Given the description of an element on the screen output the (x, y) to click on. 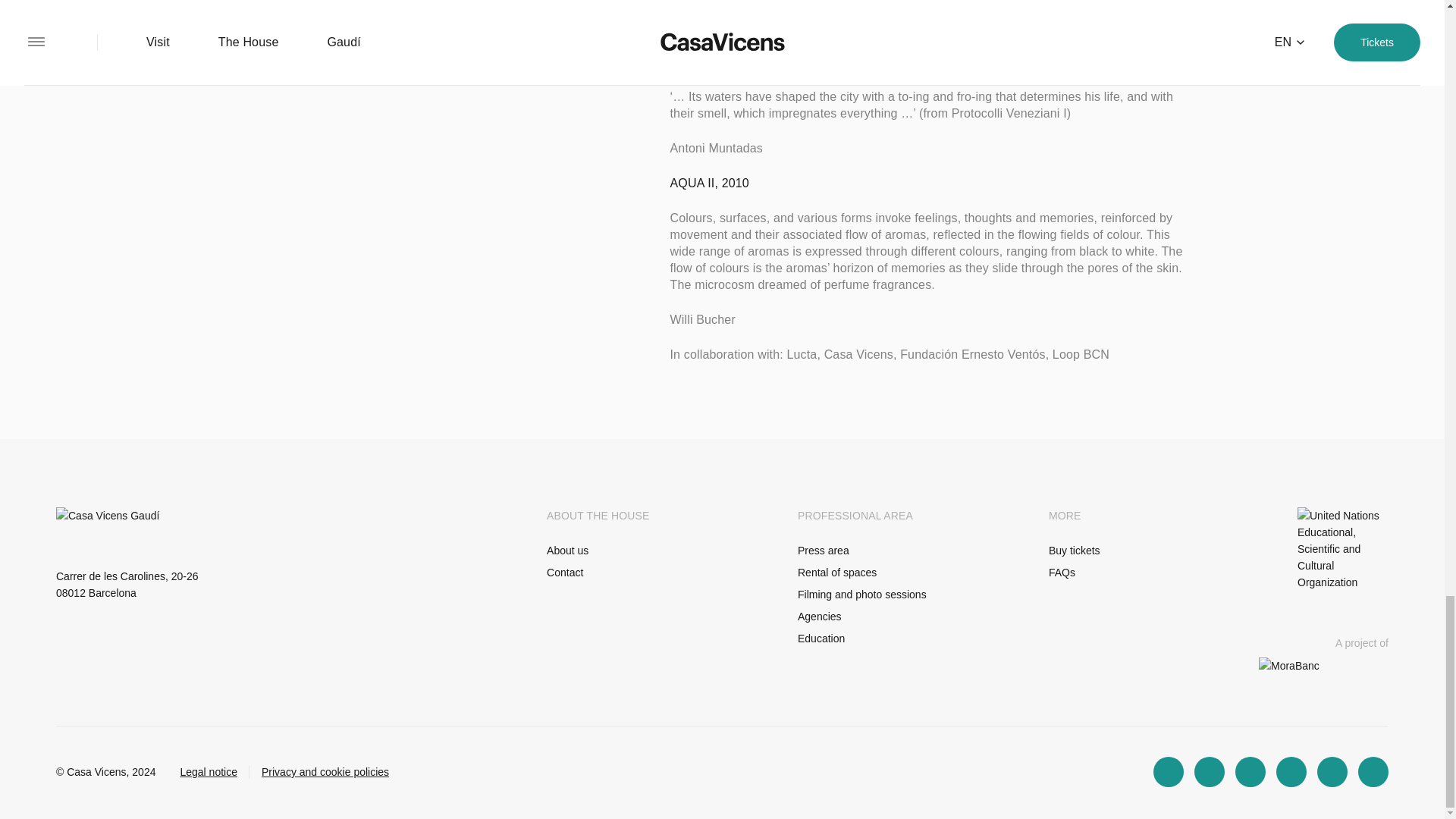
FAQs (1061, 572)
Facebook (1249, 771)
Legal notice (208, 771)
Youtube (1373, 771)
Education (820, 638)
Instagram (1168, 771)
Contact (565, 572)
Agencies (819, 616)
Buy tickets (1074, 550)
X (1291, 771)
